Given the description of an element on the screen output the (x, y) to click on. 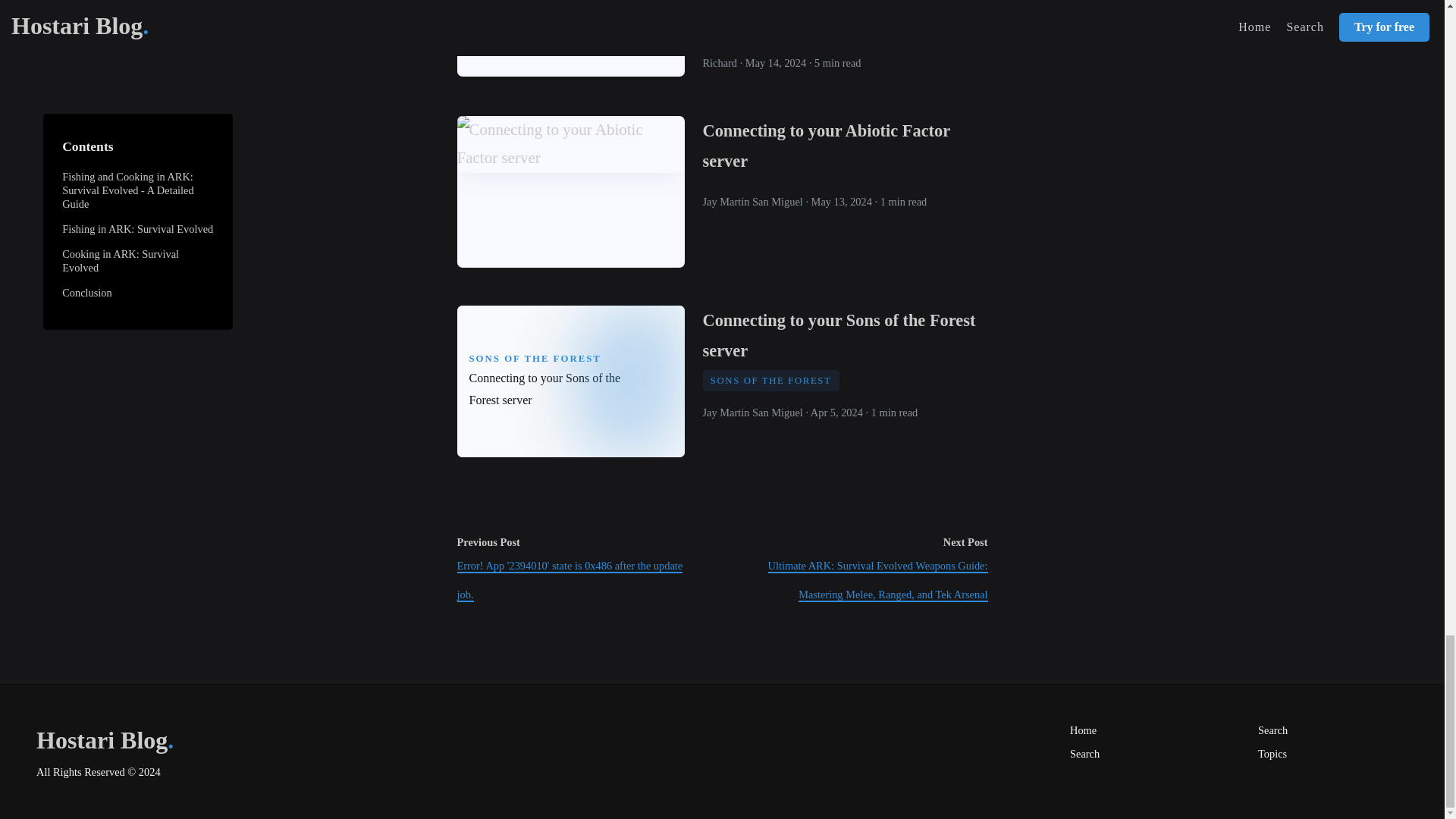
Home (1083, 729)
Search (1272, 729)
Hostari Blog. (149, 740)
Error! App '2394010' state is 0x486 after the update job. (569, 580)
Search (1084, 753)
Topics (1272, 753)
